Given the description of an element on the screen output the (x, y) to click on. 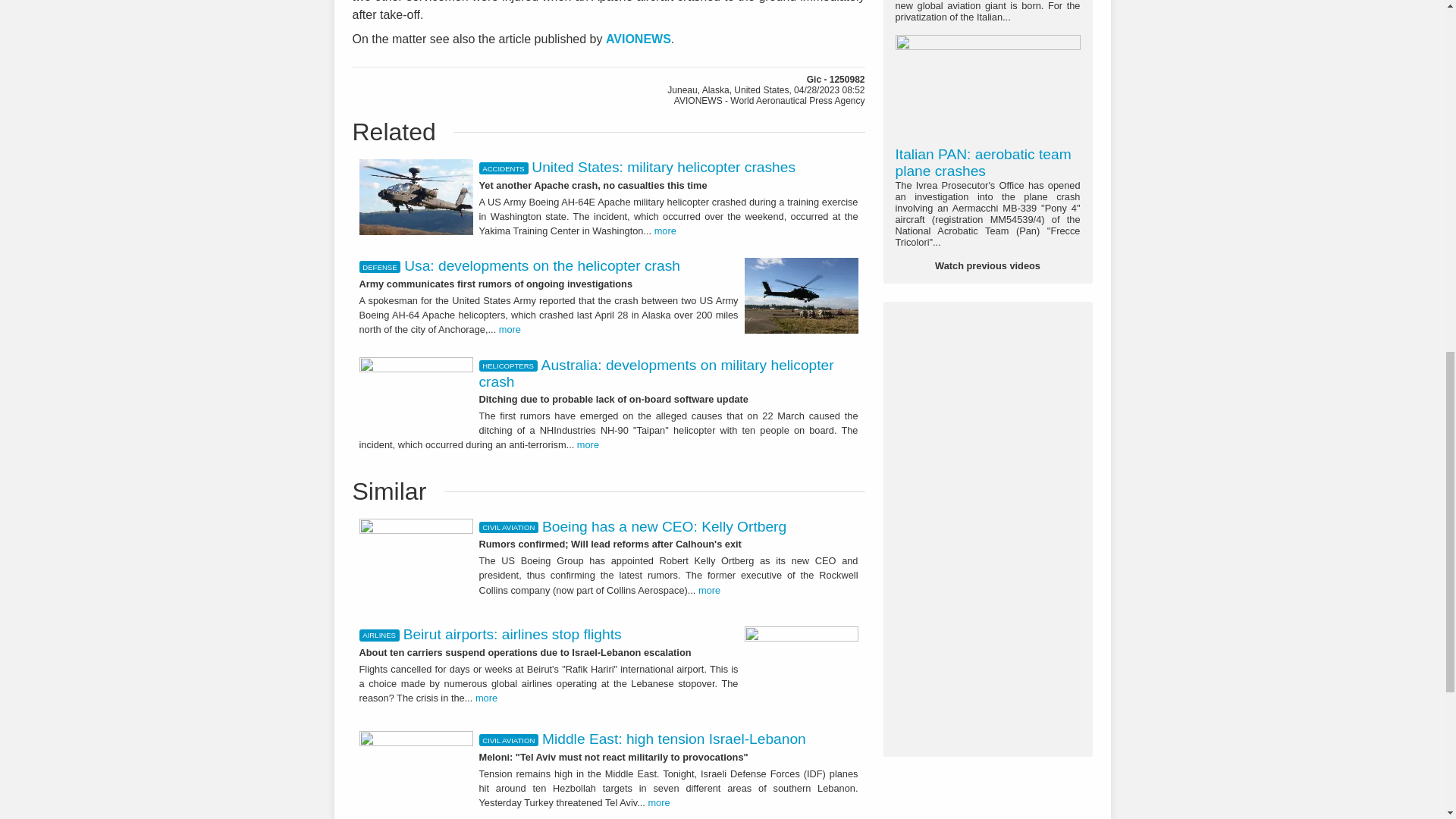
Italian Prime Minister Giorgia Meloni (416, 770)
A Boeing AH-64E Apache Guardian helicopter (801, 295)
Robert Kelly Ortber, chief executive officer of Boeing Group (416, 562)
Boeing AH-64 Apache MK1 helicopter (416, 196)
NH Industries NH-90 helicopter (416, 388)
Beirut International Airport (801, 668)
